Given the description of an element on the screen output the (x, y) to click on. 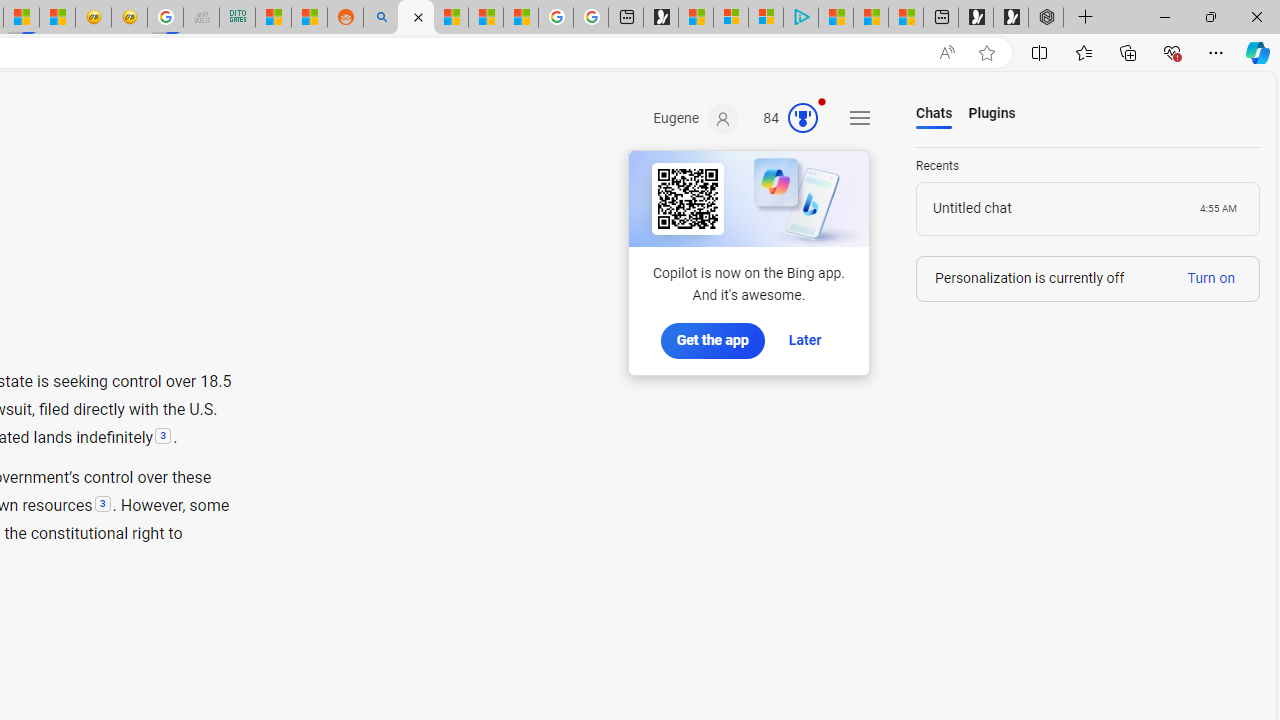
Copilot is now on the Bing app. And it's awesome. (748, 228)
Turn on (1211, 278)
AutomationID: serp_medal_svg (803, 117)
Chats (934, 113)
Load chat (1087, 209)
Settings and quick links (859, 117)
AutomationID: rh_meter (803, 117)
